Given the description of an element on the screen output the (x, y) to click on. 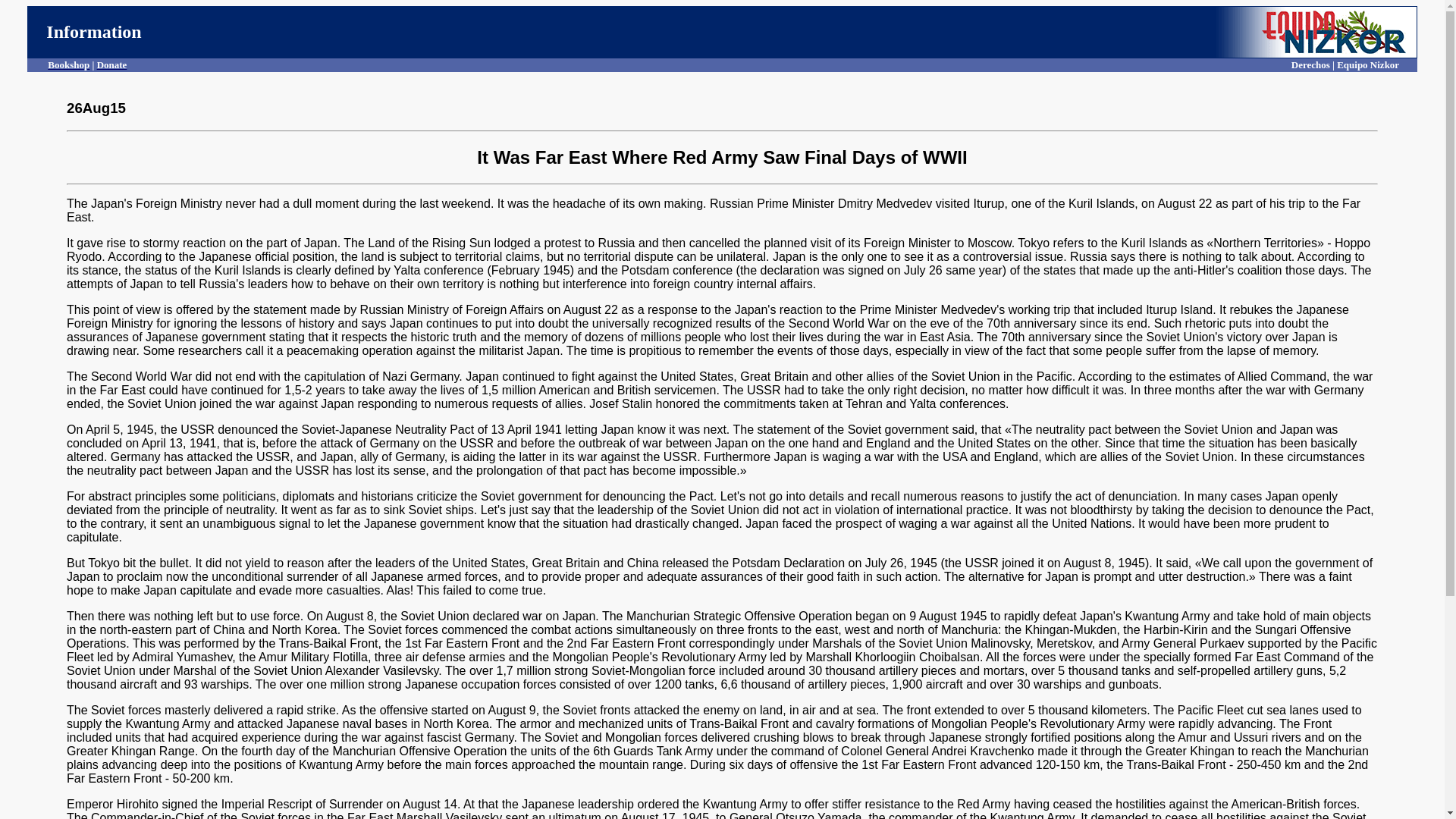
Bookshop (68, 64)
Donate (112, 64)
